Given the description of an element on the screen output the (x, y) to click on. 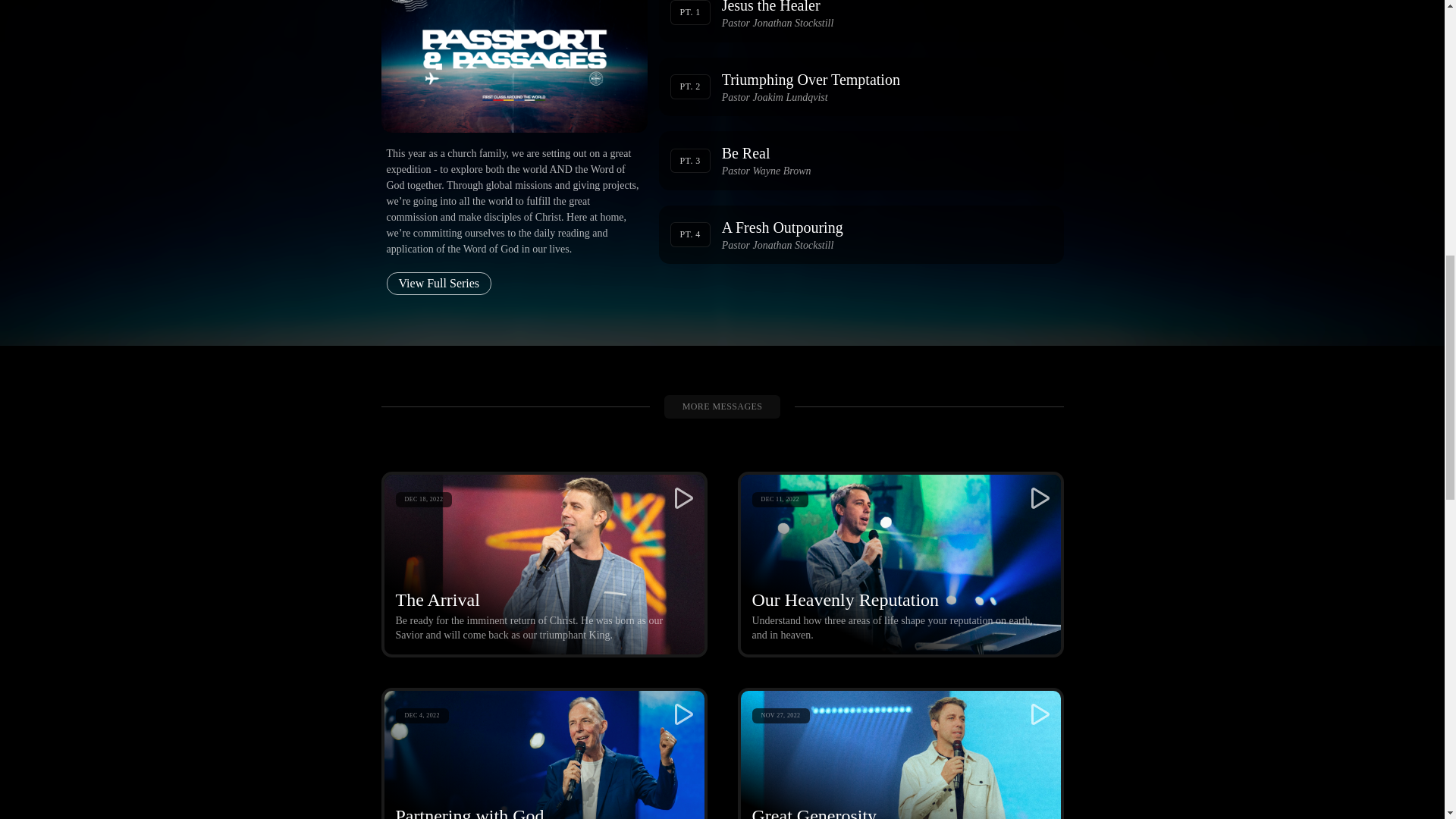
View Full Series (860, 21)
